Given the description of an element on the screen output the (x, y) to click on. 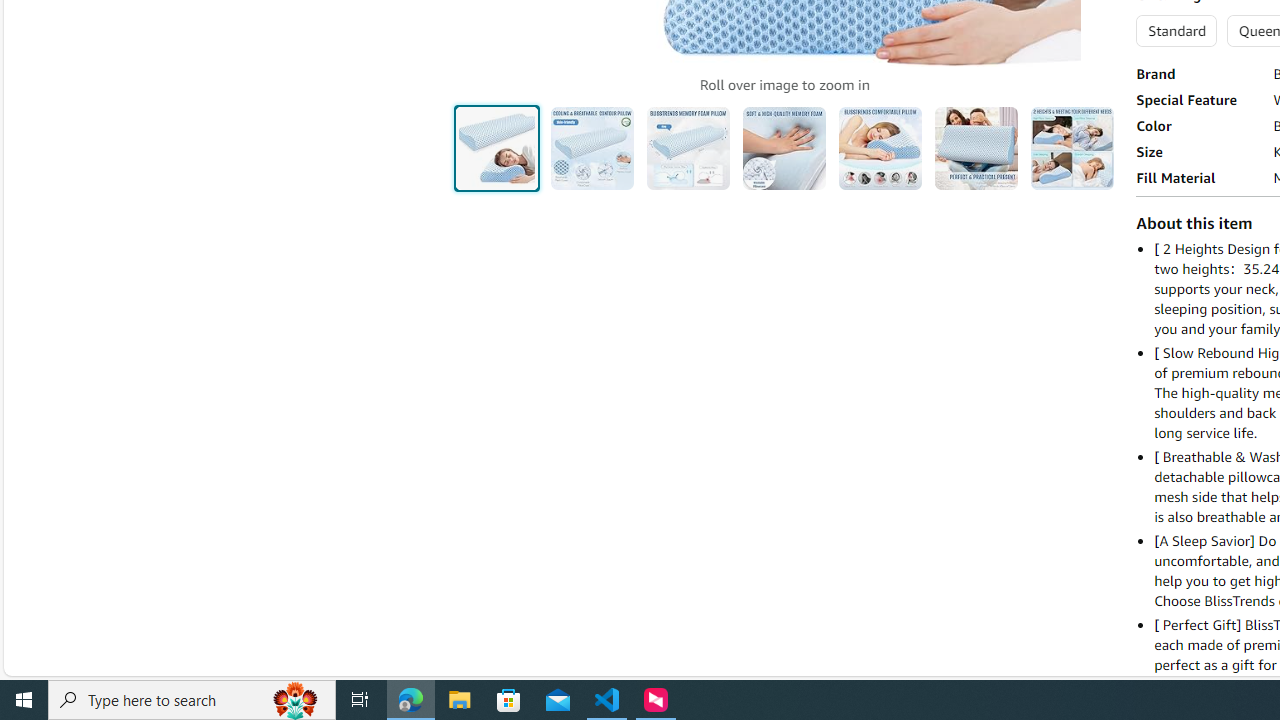
Standard (1176, 30)
